Given the description of an element on the screen output the (x, y) to click on. 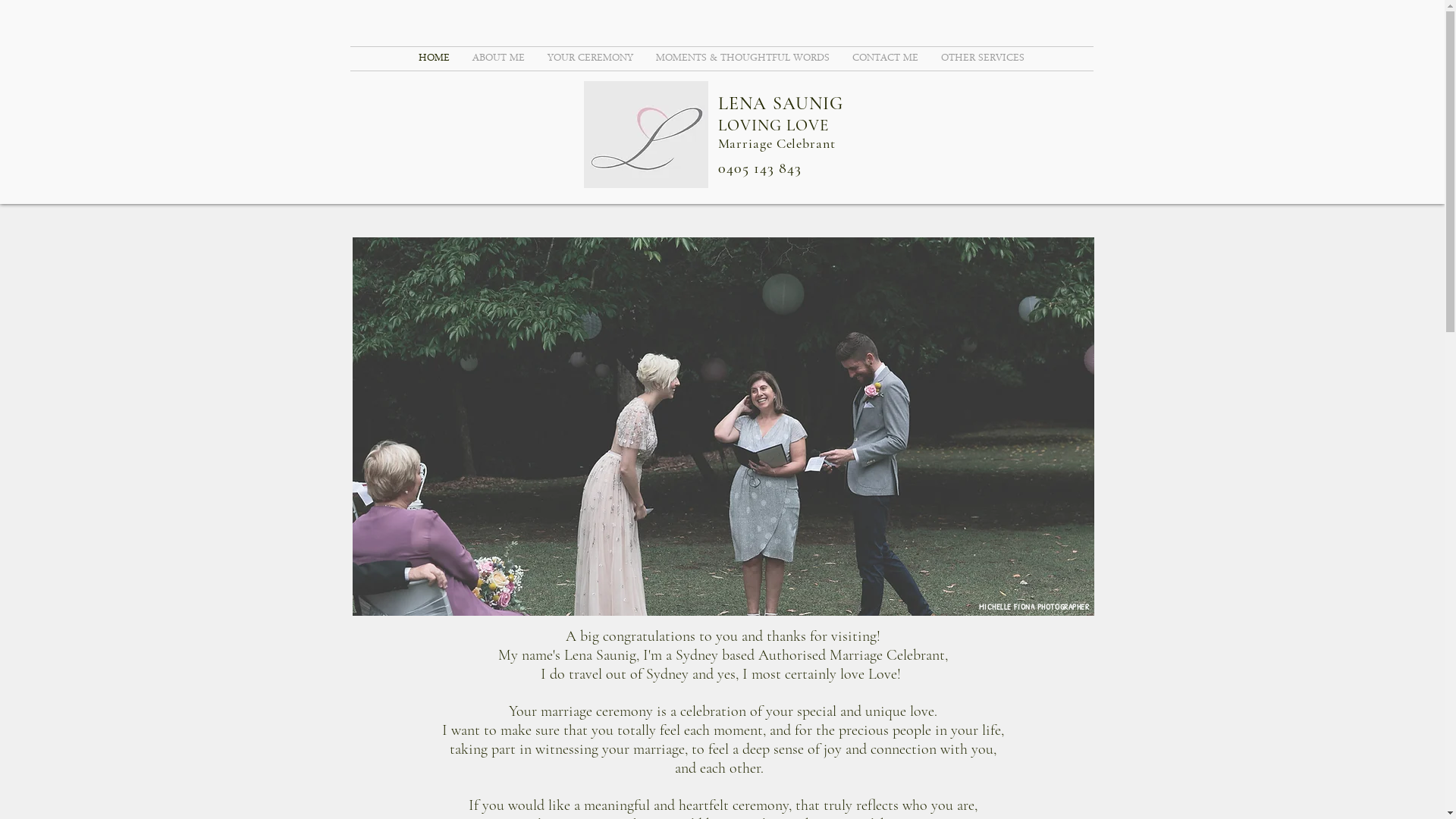
HOME Element type: text (434, 58)
MOMENTS & THOUGHTFUL WORDS Element type: text (742, 58)
CONTACT ME Element type: text (884, 58)
 0405 143 843 Element type: text (756, 168)
ABOUT ME Element type: text (498, 58)
YOUR CEREMONY Element type: text (590, 58)
OTHER SERVICES Element type: text (982, 58)
